Given the description of an element on the screen output the (x, y) to click on. 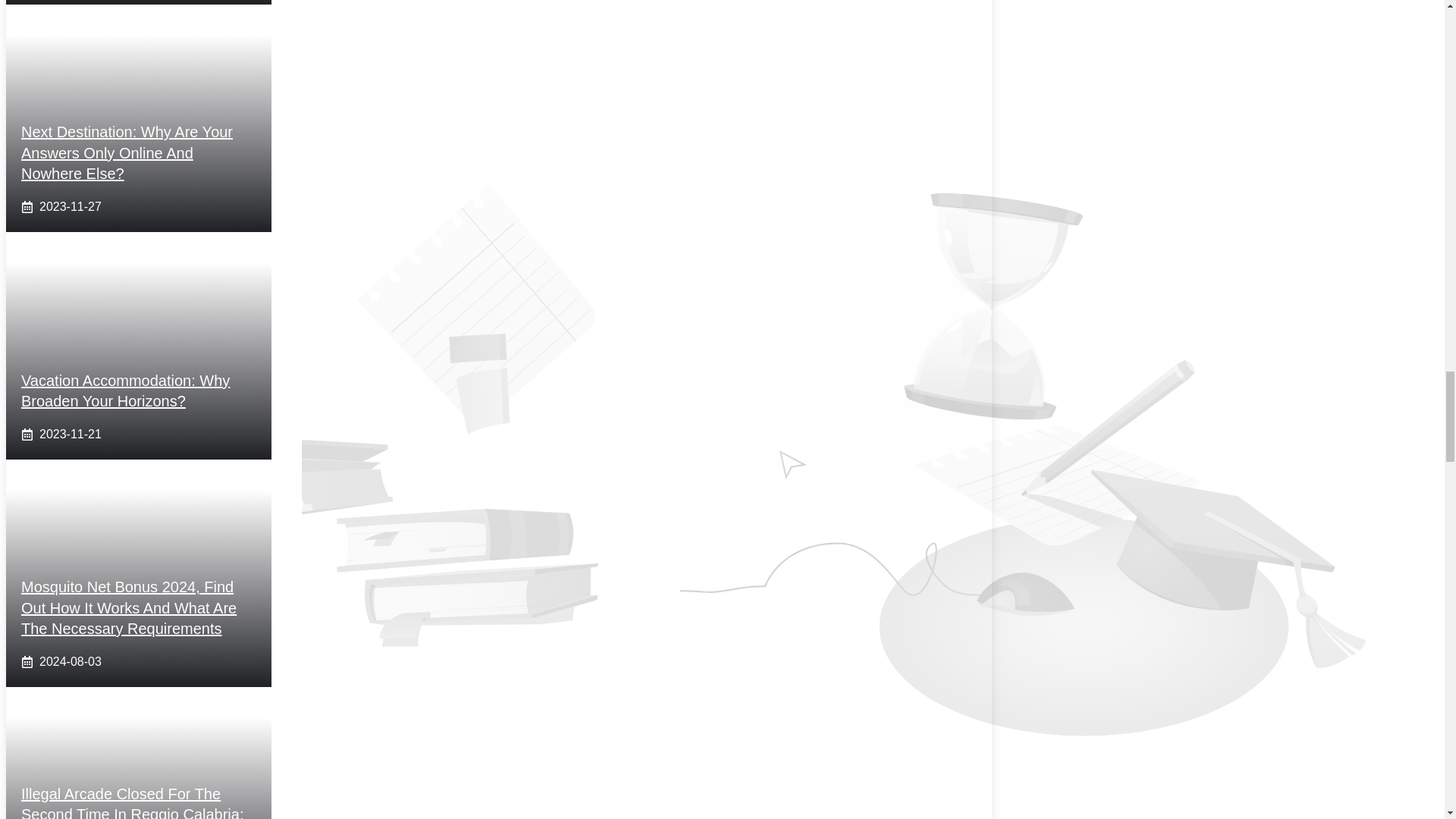
Vacation Accommodation: Why Broaden Your Horizons? (125, 390)
